Given the description of an element on the screen output the (x, y) to click on. 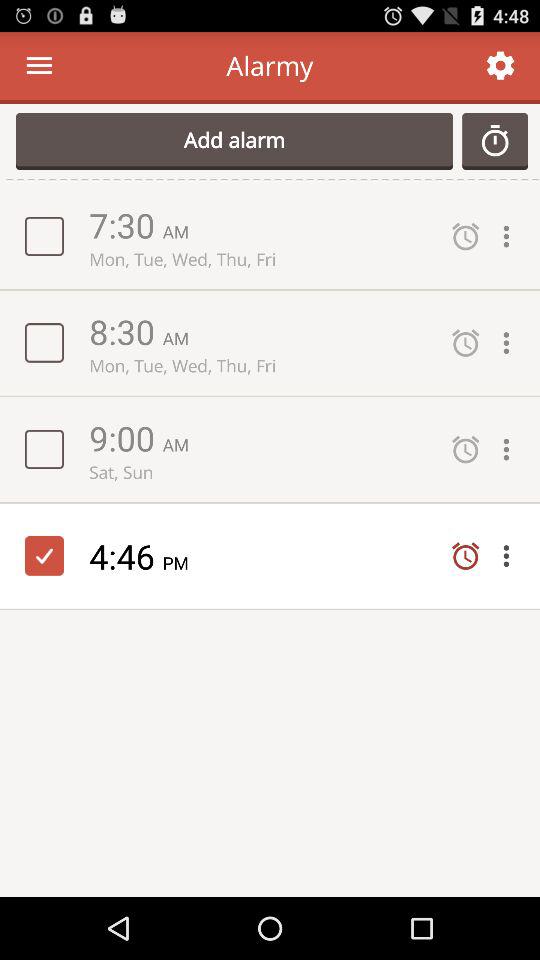
settings (511, 449)
